Given the description of an element on the screen output the (x, y) to click on. 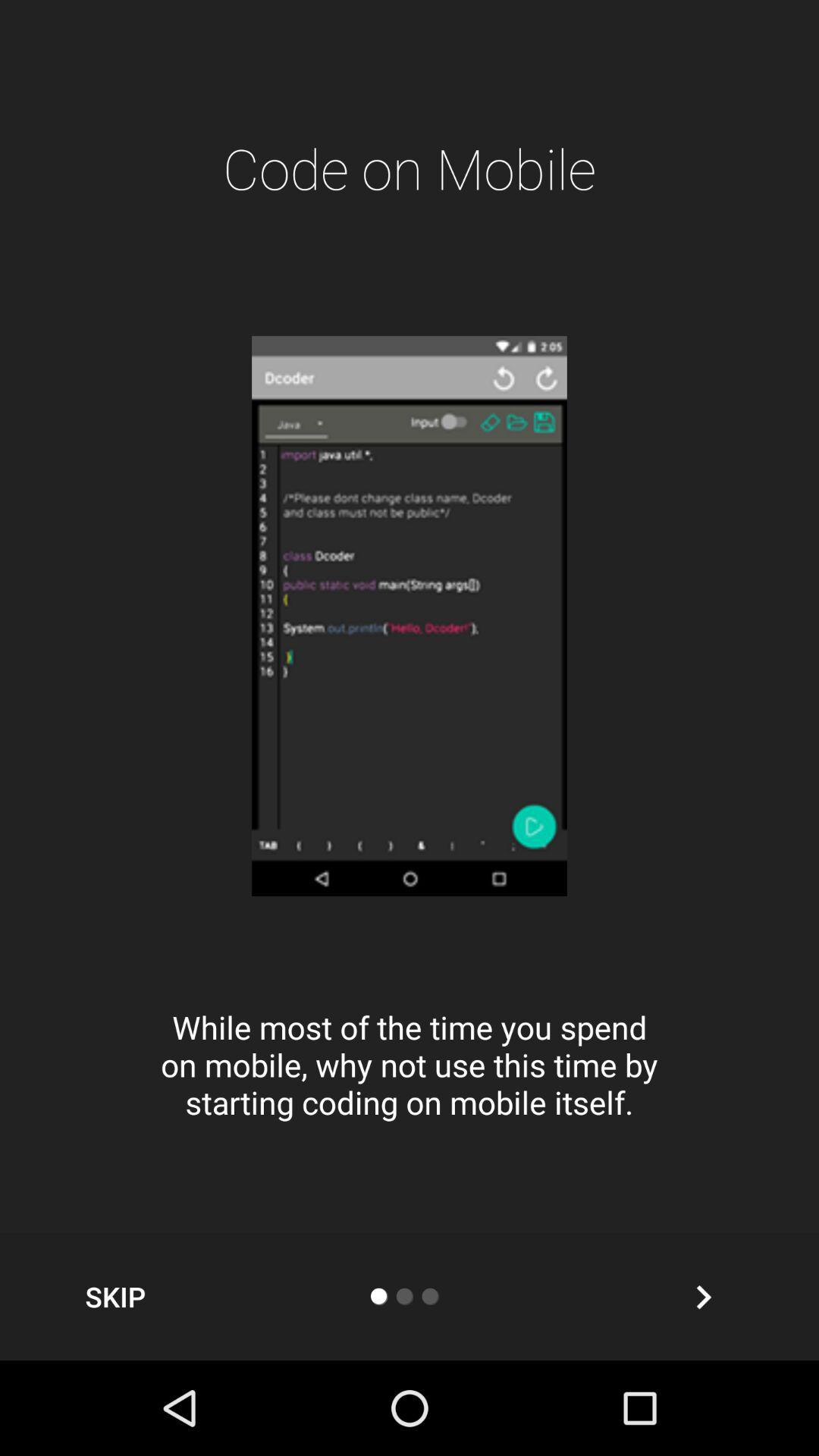
jump until skip icon (114, 1296)
